Given the description of an element on the screen output the (x, y) to click on. 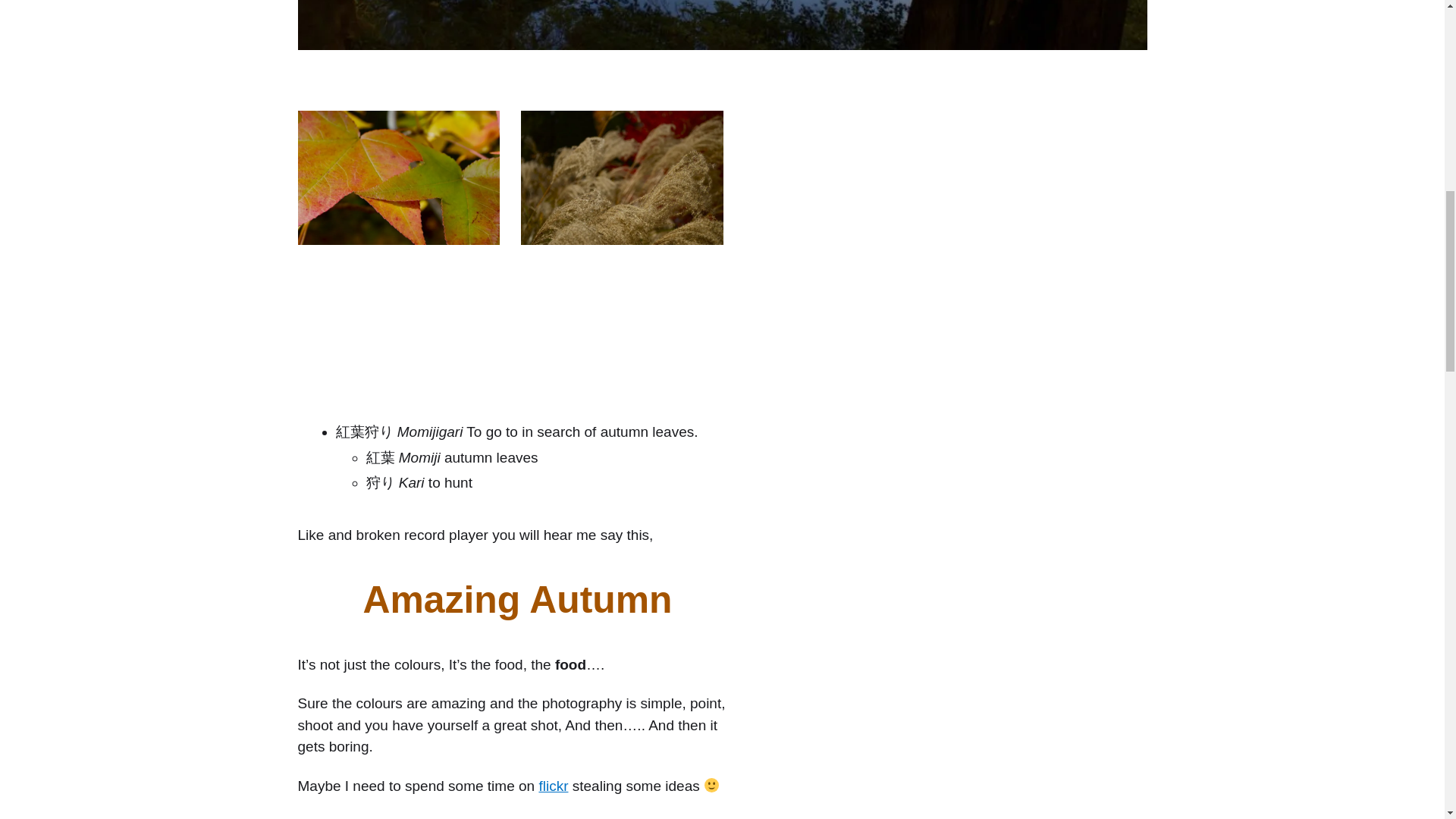
flickr (552, 785)
